Given the description of an element on the screen output the (x, y) to click on. 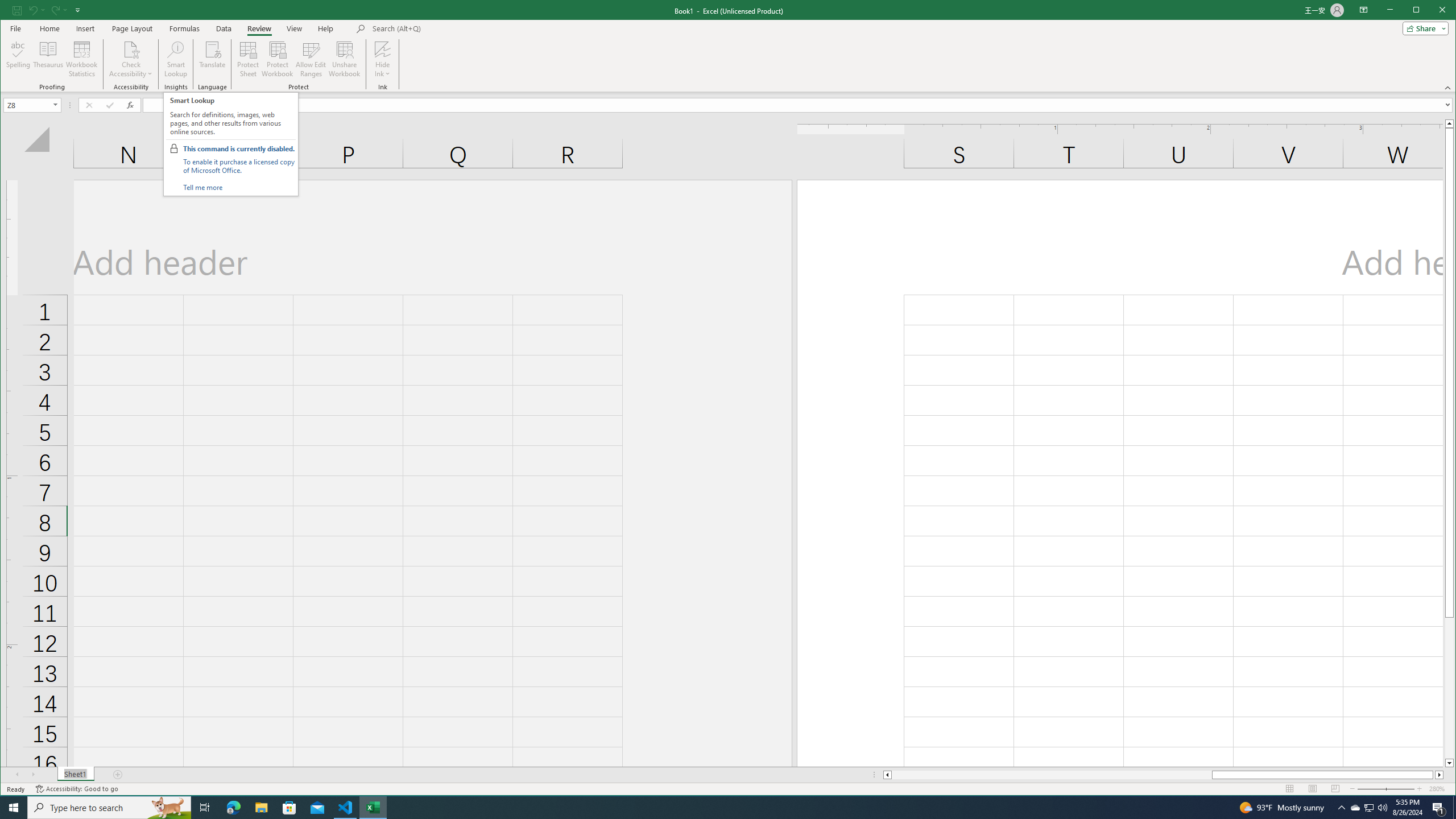
This command is currently disabled. (238, 148)
Start (1355, 807)
Excel - 1 running window (13, 807)
Notification Chevron (373, 807)
Protect Sheet... (1341, 807)
Unshare Workbook (247, 59)
